Given the description of an element on the screen output the (x, y) to click on. 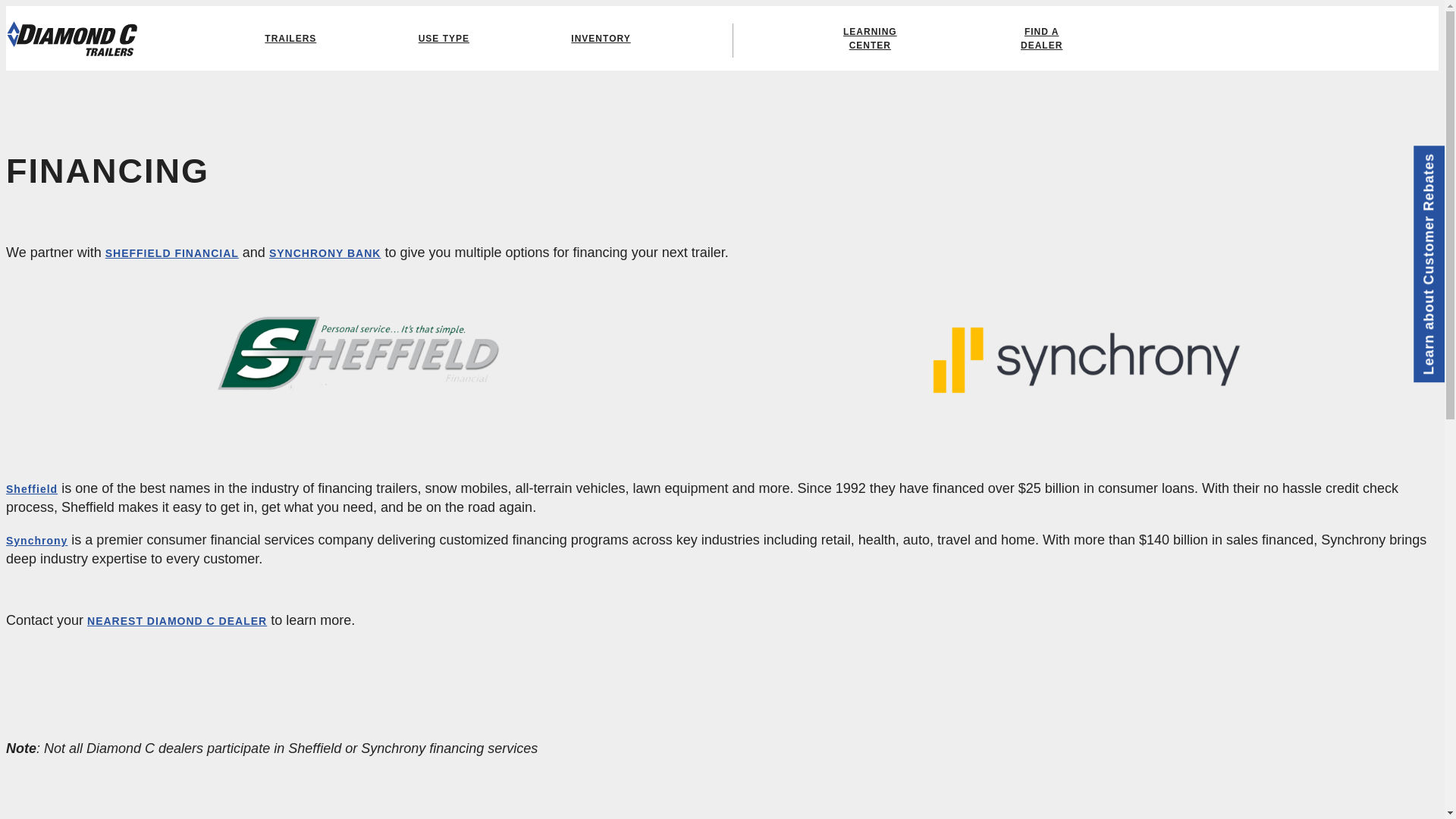
DEALER PORTAL (1234, 18)
CAREERS (1400, 18)
DC GEAR (1326, 18)
Home (71, 37)
